Given the description of an element on the screen output the (x, y) to click on. 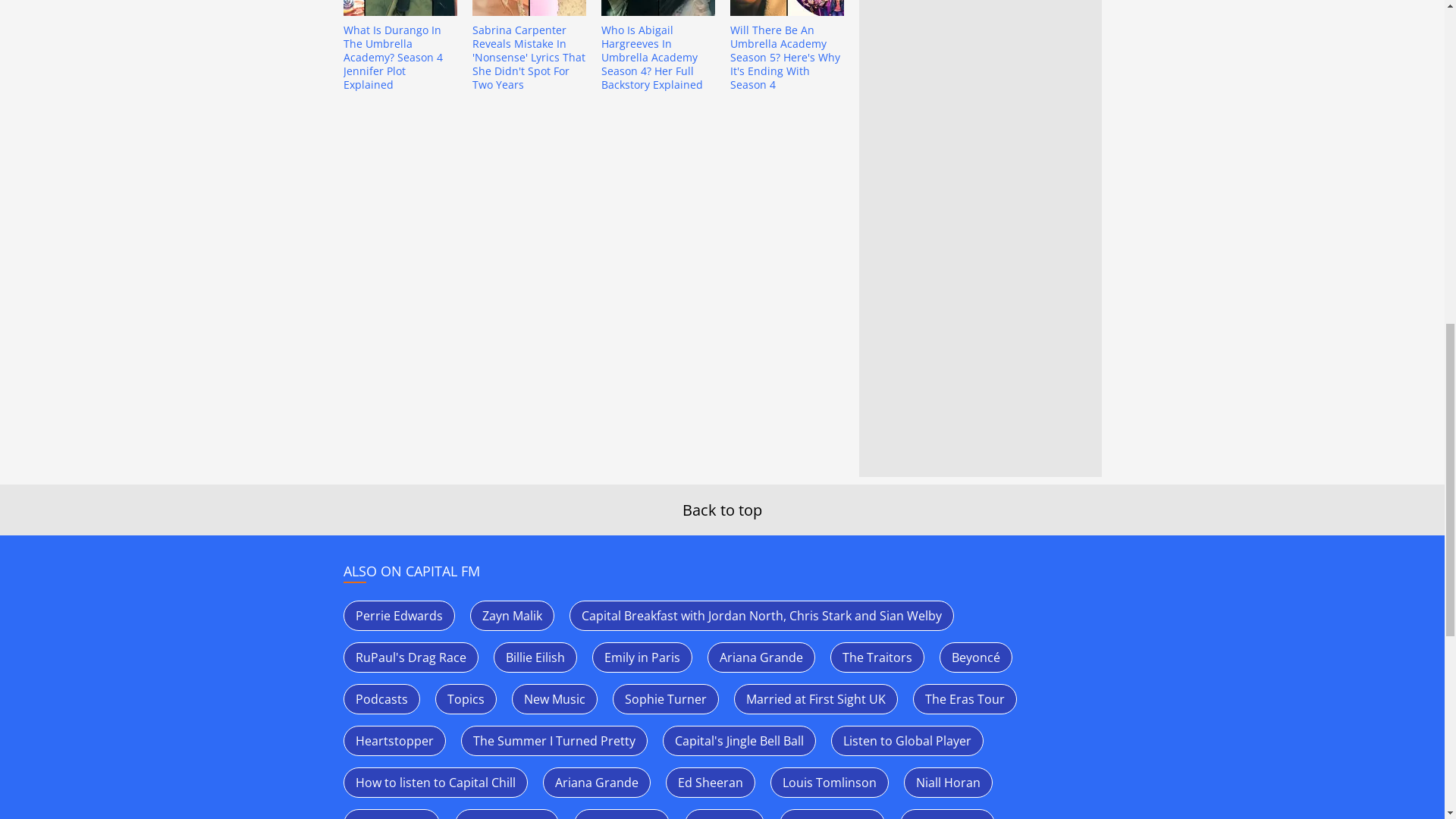
Back to top (721, 509)
